Given the description of an element on the screen output the (x, y) to click on. 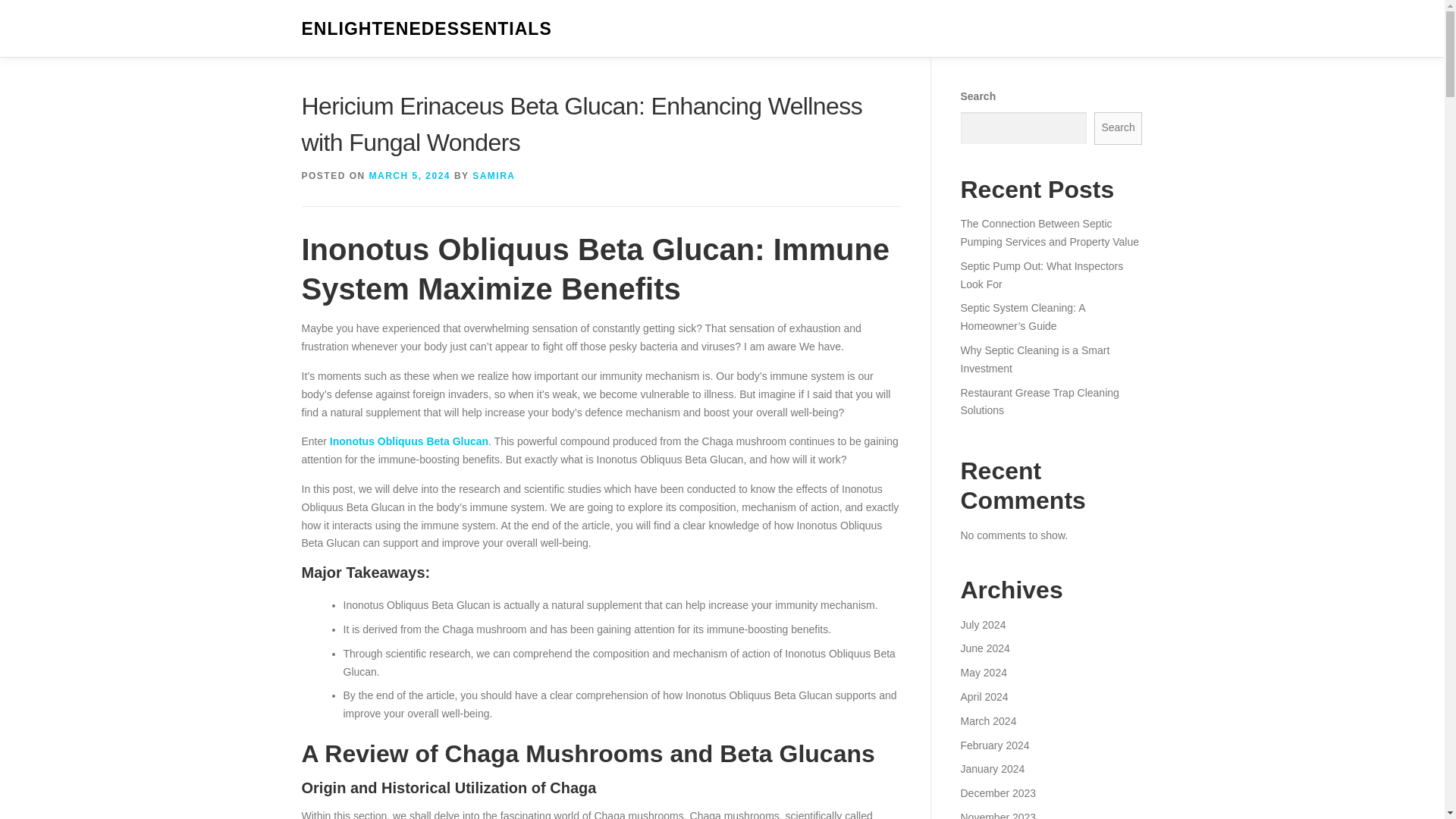
February 2024 (994, 744)
June 2024 (984, 648)
Inonotus Obliquus Beta Glucan (408, 440)
Search (1118, 128)
ENLIGHTENEDESSENTIALS (426, 29)
Restaurant Grease Trap Cleaning Solutions (1038, 401)
April 2024 (983, 696)
Septic Pump Out: What Inspectors Look For (1040, 275)
MARCH 5, 2024 (410, 175)
Why Septic Cleaning is a Smart Investment (1034, 358)
March 2024 (987, 720)
December 2023 (997, 793)
November 2023 (997, 815)
SAMIRA (493, 175)
